Given the description of an element on the screen output the (x, y) to click on. 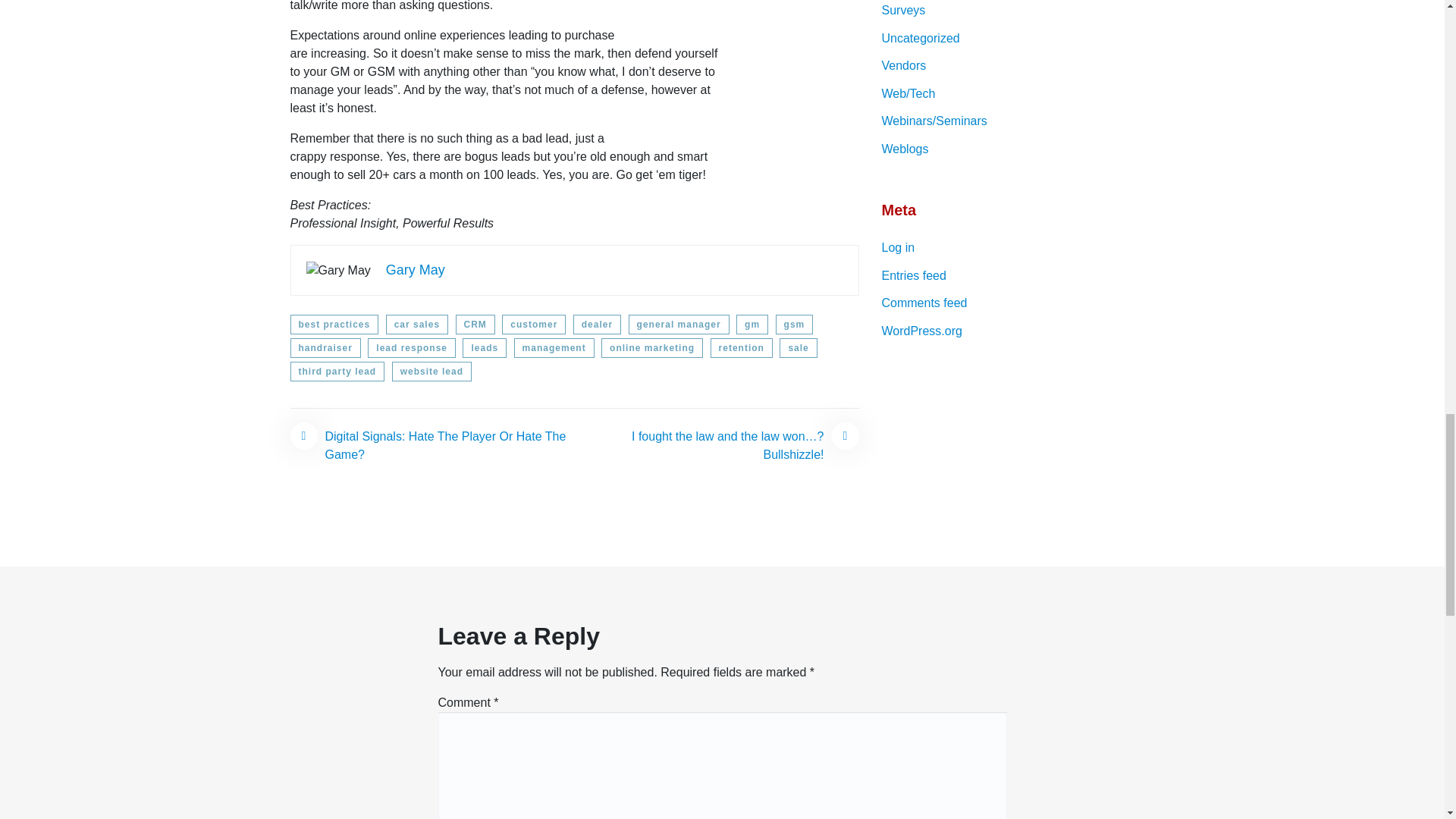
lead response (411, 347)
online marketing (652, 347)
third party lead (336, 371)
CRM (475, 324)
handraiser (324, 347)
gm (752, 324)
retention (741, 347)
management (553, 347)
Digital Signals: Hate The Player Or Hate The Game? (431, 445)
gsm (794, 324)
dealer (597, 324)
best practices (333, 324)
car sales (416, 324)
sale (797, 347)
Gary May (415, 269)
